Given the description of an element on the screen output the (x, y) to click on. 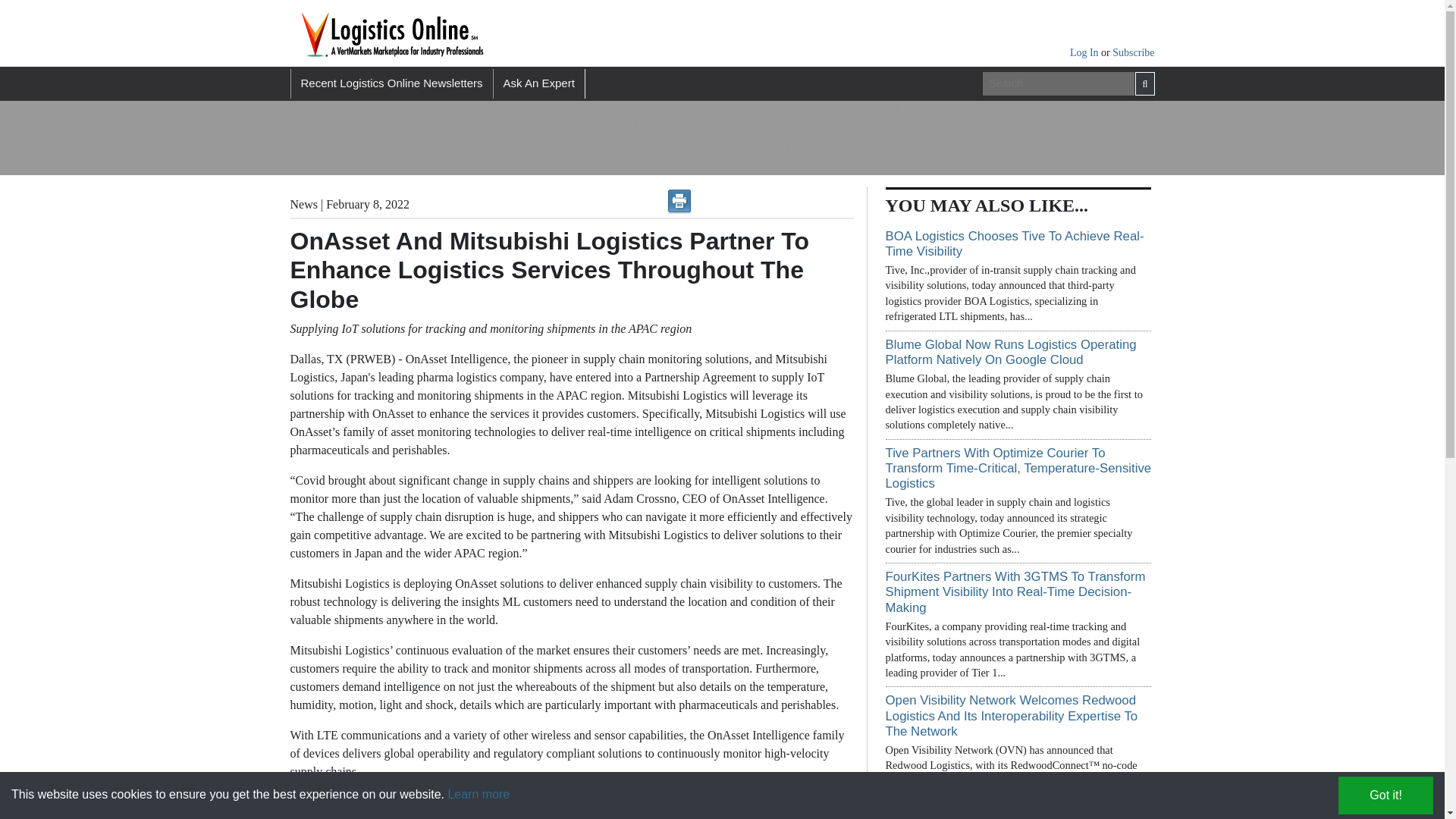
Learn more (477, 793)
Print (679, 201)
Got it! (1385, 795)
Log In (1085, 52)
Recent Logistics Online Newsletters (390, 83)
Subscribe (1133, 52)
3rd party ad content (1008, 137)
Ask An Expert (539, 83)
3rd party ad content (623, 137)
BOA Logistics Chooses Tive To Achieve Real-Time Visibility (1014, 243)
